Given the description of an element on the screen output the (x, y) to click on. 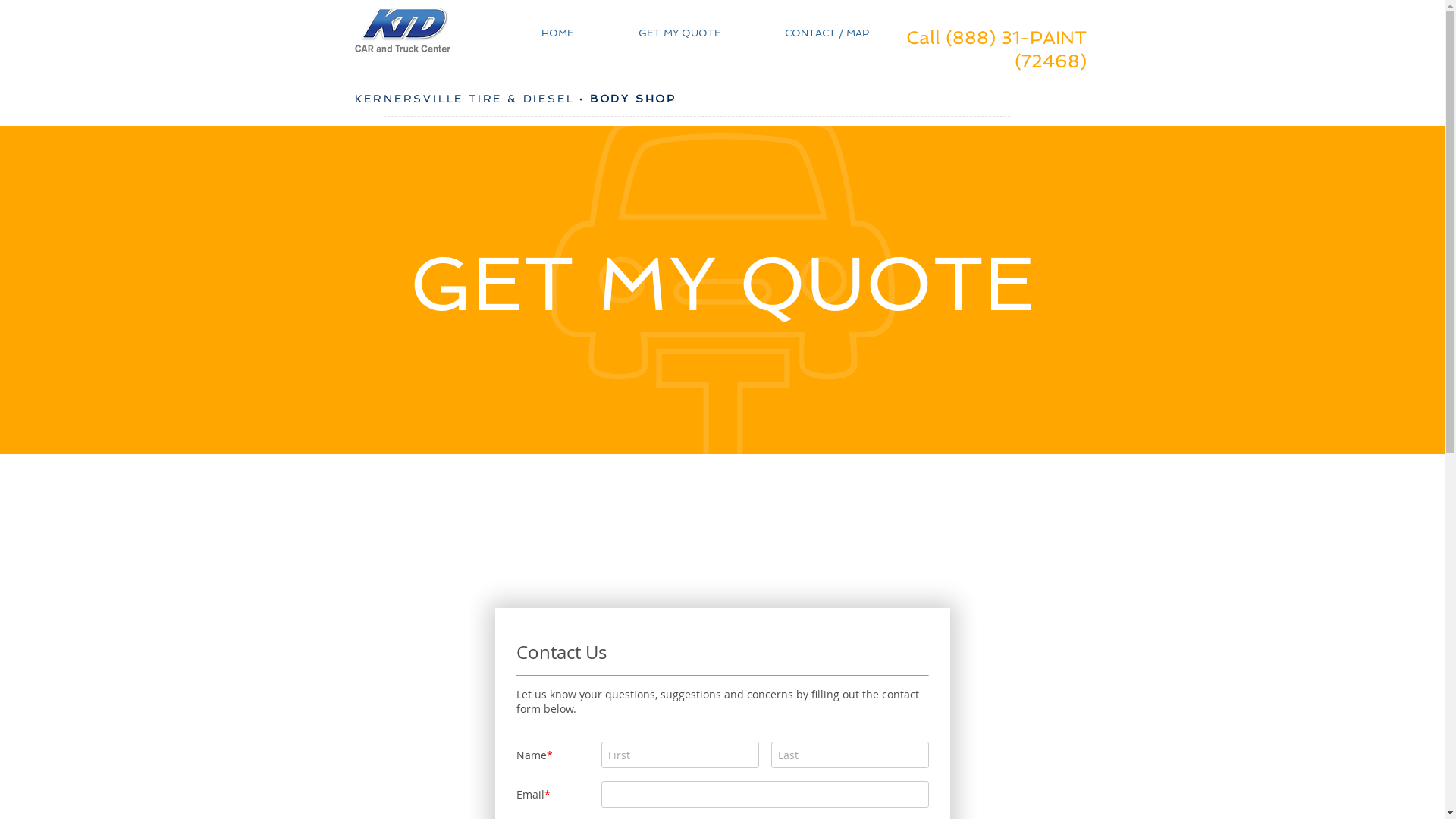
Embedded Content Element type: hover (972, 182)
GET MY QUOTE Element type: text (658, 31)
CONTACT / MAP Element type: text (806, 31)
Embedded Content Element type: hover (972, 224)
Embedded Content Element type: hover (972, 332)
Embedded Content Element type: hover (972, 388)
Embedded Content Element type: hover (972, 276)
HOME Element type: text (536, 31)
